Given the description of an element on the screen output the (x, y) to click on. 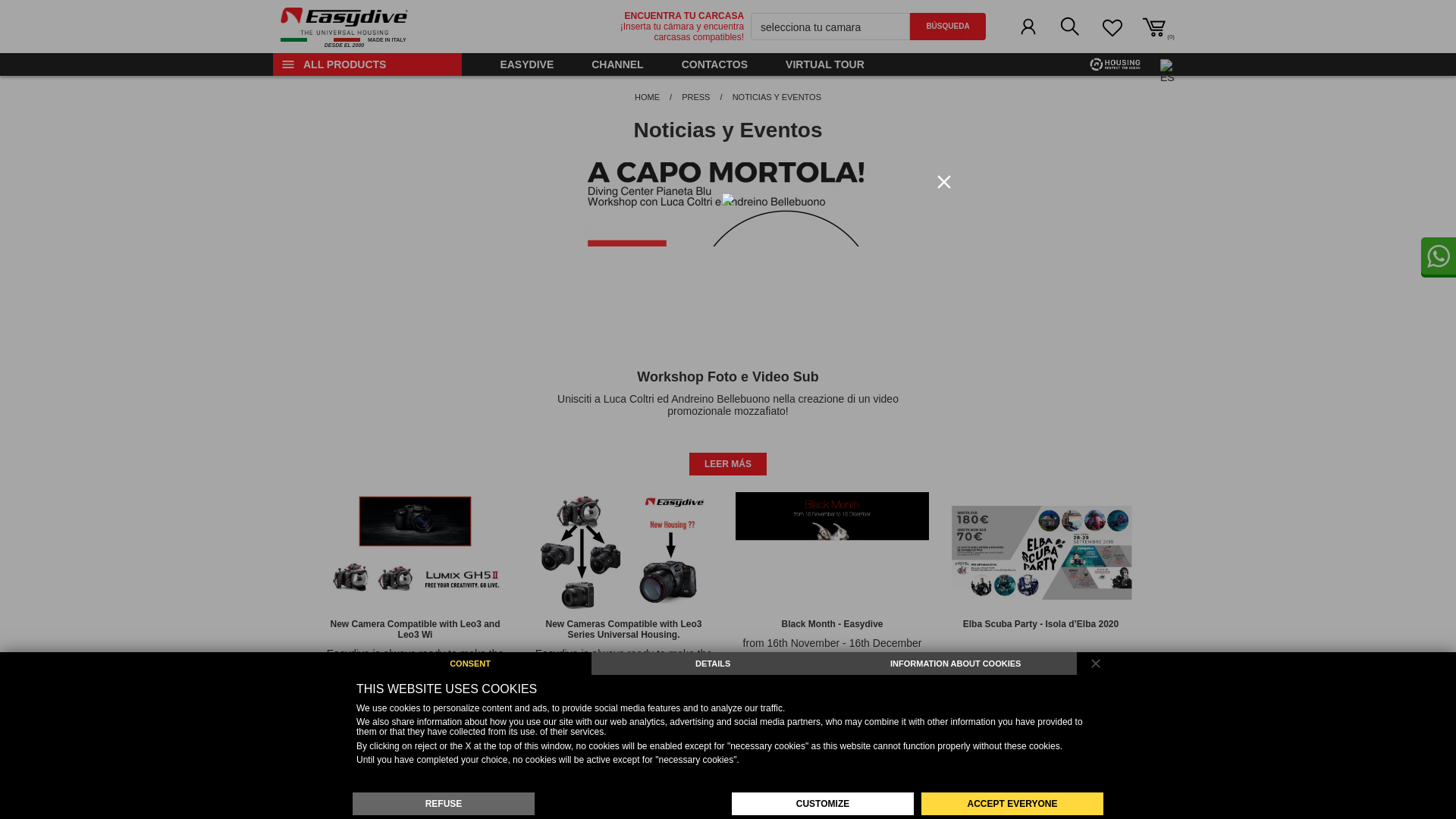
Easydive Online Shop (344, 26)
ALL PRODUCTS (344, 26)
